Given the description of an element on the screen output the (x, y) to click on. 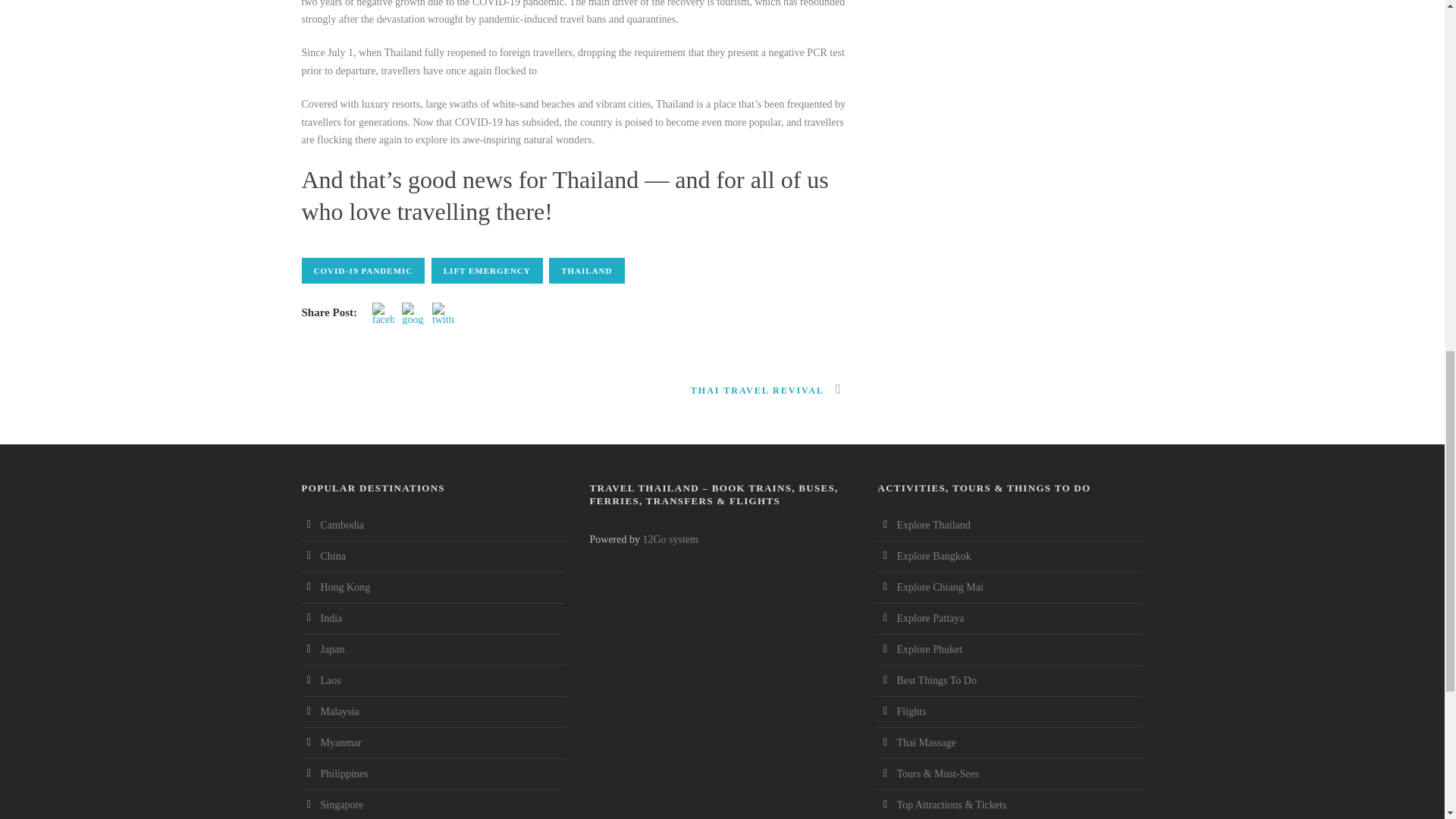
LIFT EMERGENCY (486, 270)
COVID-19 PANDEMIC (363, 270)
THAILAND (586, 270)
